Given the description of an element on the screen output the (x, y) to click on. 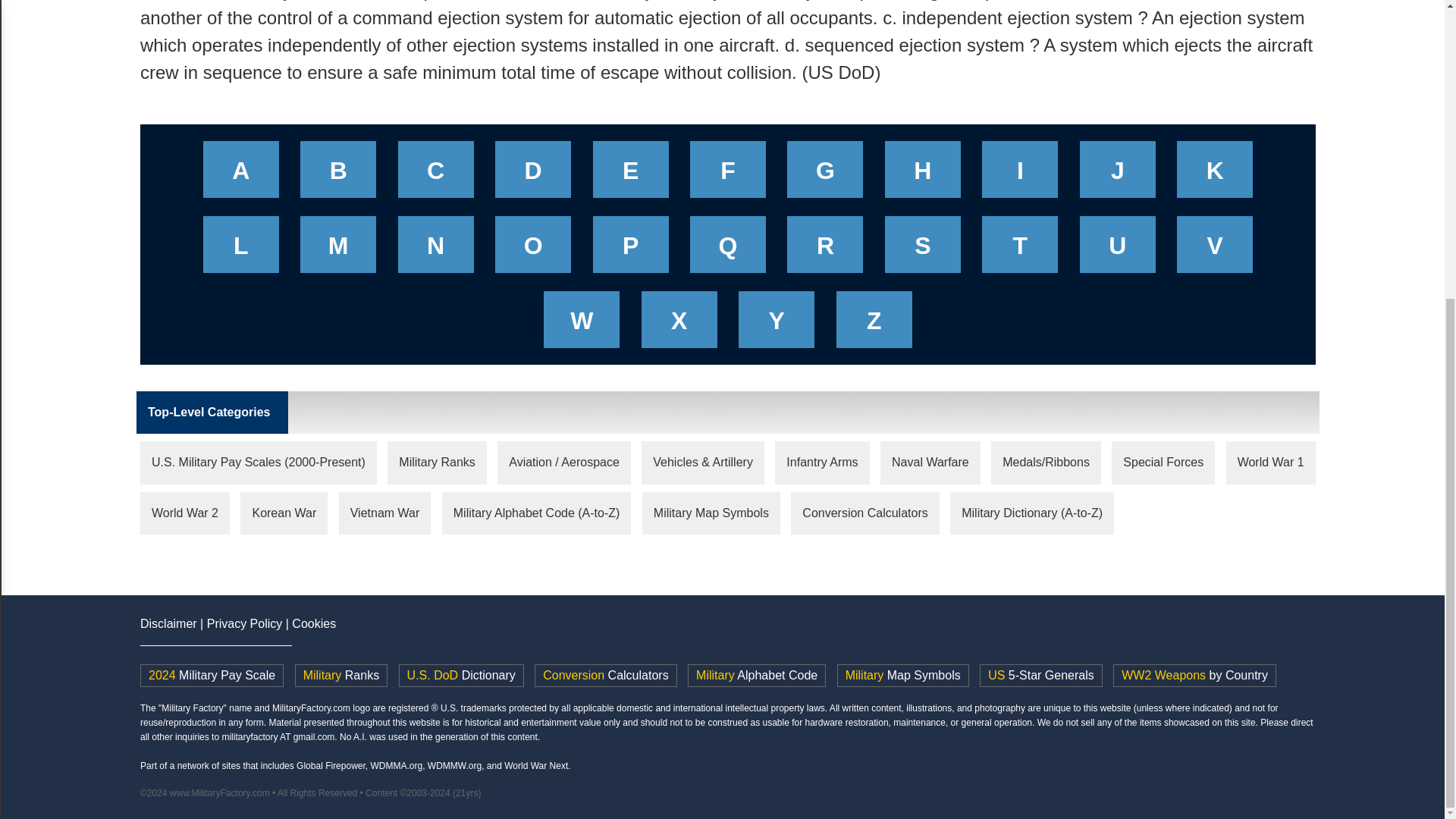
E (630, 174)
F (727, 174)
L (240, 249)
G (824, 174)
I (1019, 174)
A (240, 174)
M (338, 249)
N (435, 249)
C (435, 174)
J (1117, 174)
H (922, 174)
R (824, 249)
O (532, 249)
Q (727, 249)
K (1214, 174)
